Given the description of an element on the screen output the (x, y) to click on. 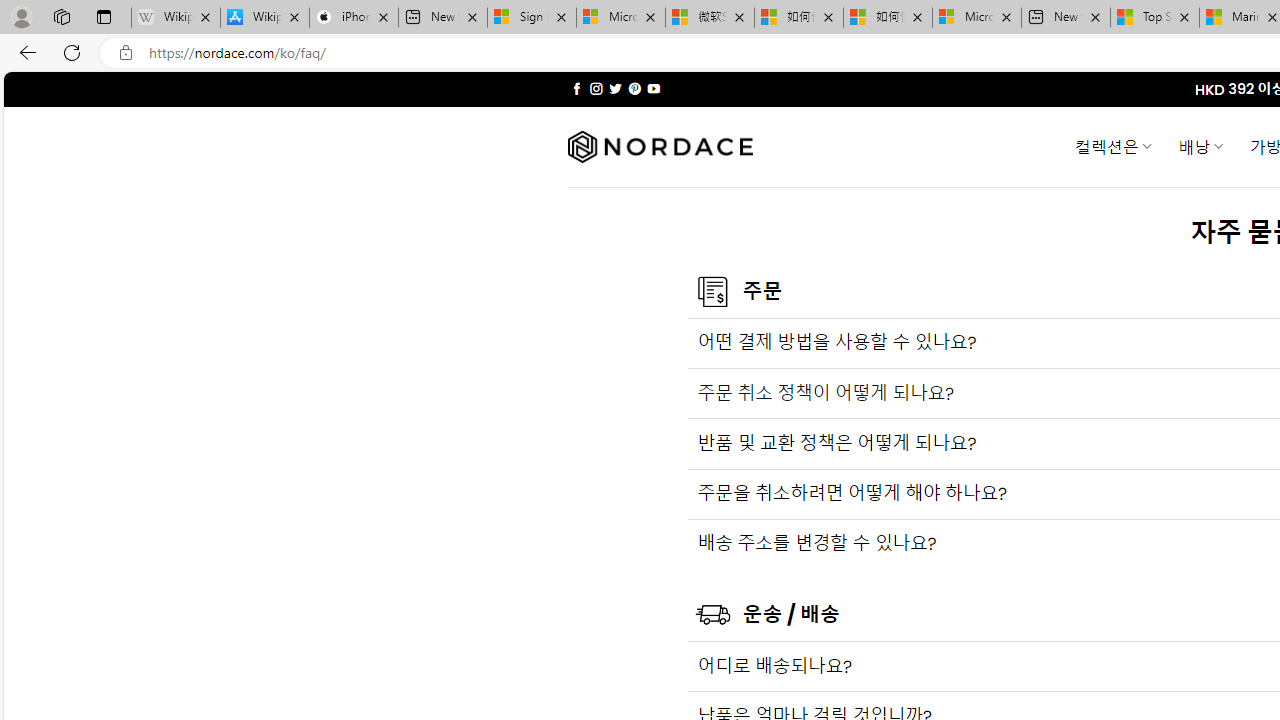
Follow on Facebook (576, 88)
Microsoft account | Account Checkup (977, 17)
Follow on YouTube (653, 88)
